Given the description of an element on the screen output the (x, y) to click on. 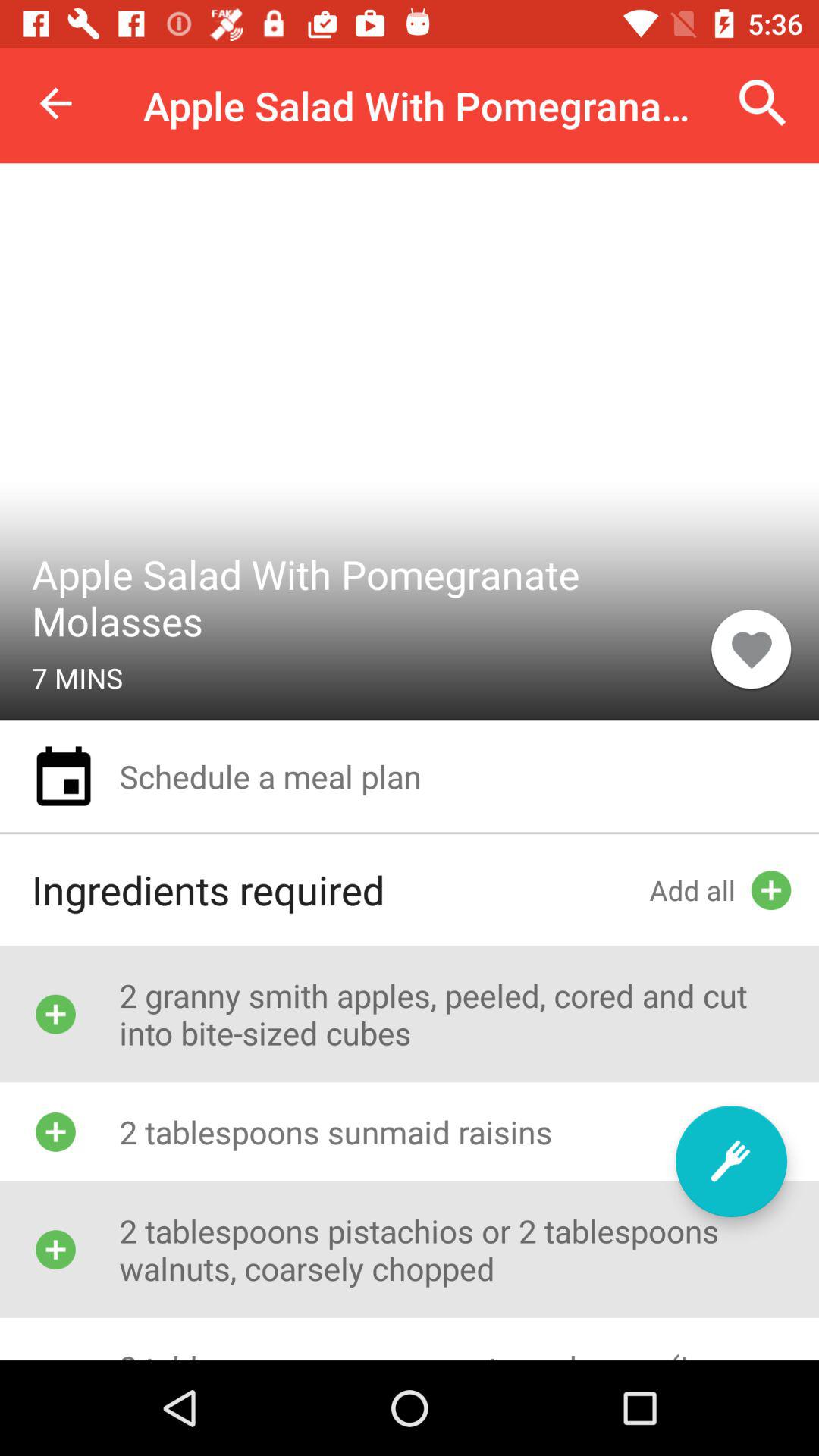
choose the item to the left of apple salad with icon (55, 103)
